Given the description of an element on the screen output the (x, y) to click on. 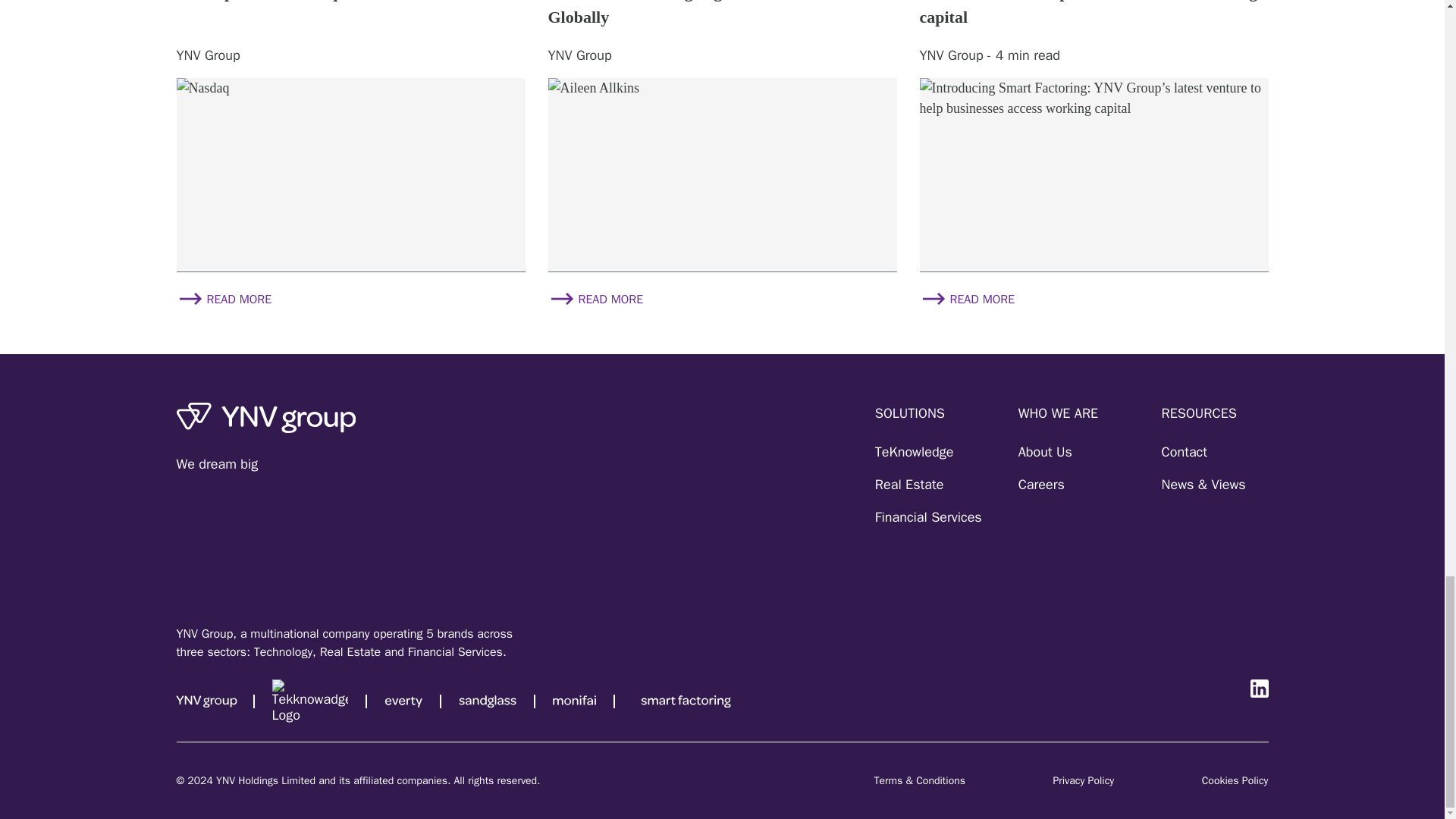
Monifai (574, 700)
Tekknowadge (309, 700)
Smart Factoring (686, 700)
Sandglass Experiences (487, 700)
LinkedIn (1258, 688)
TeKnowledge (914, 452)
YNV Group (211, 700)
Real Estate (909, 485)
Everty (403, 700)
